Given the description of an element on the screen output the (x, y) to click on. 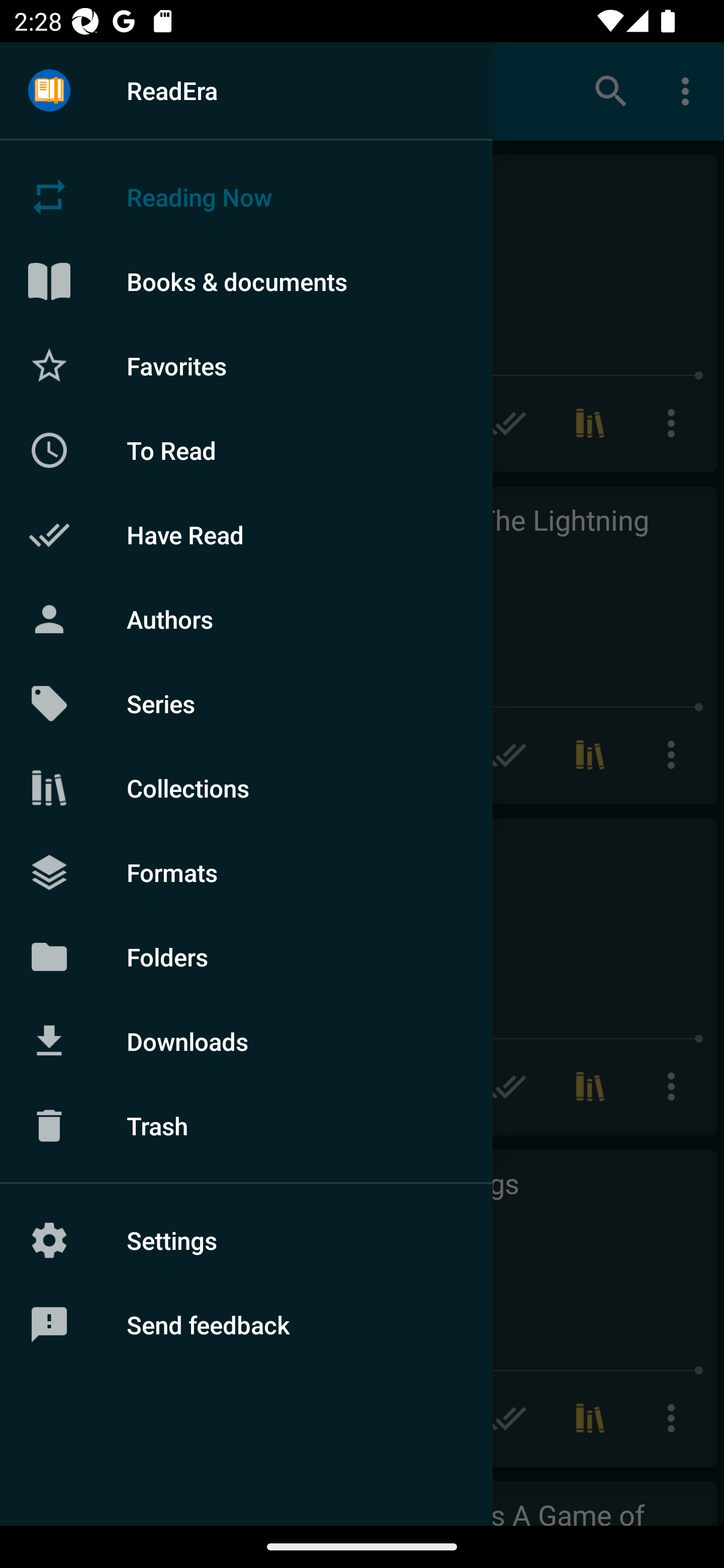
Menu (49, 91)
ReadEra (246, 89)
Search books & documents (611, 90)
More options (688, 90)
Reading Now (246, 197)
Books & documents (246, 281)
Favorites (246, 365)
To Read (246, 449)
Have Read (246, 534)
Authors (246, 619)
Series (246, 703)
Collections (246, 787)
Formats (246, 871)
Folders (246, 956)
Downloads (246, 1040)
Trash (246, 1125)
Settings (246, 1239)
Send feedback (246, 1324)
